Given the description of an element on the screen output the (x, y) to click on. 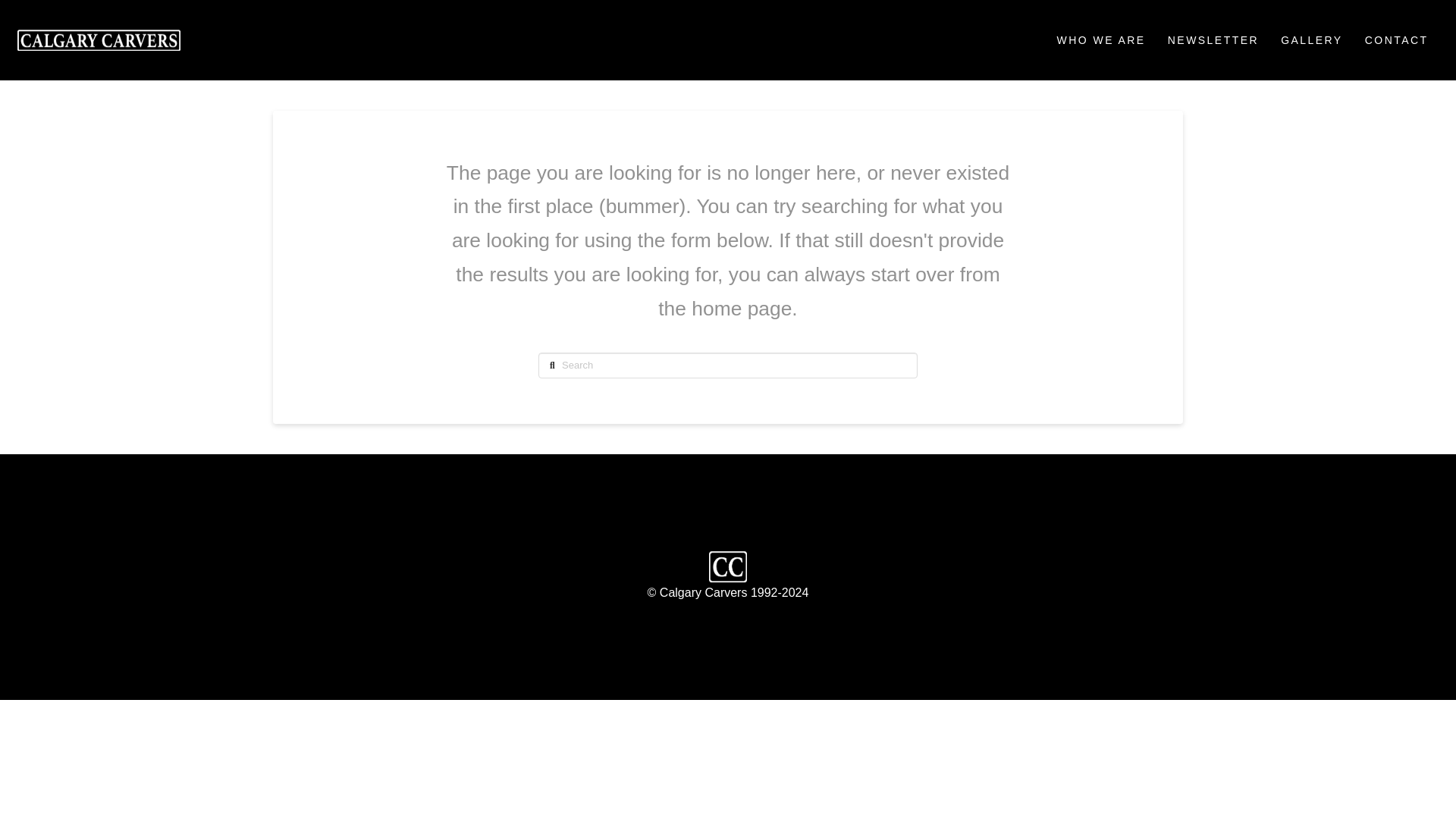
GALLERY (1310, 39)
NEWSLETTER (1212, 39)
WHO WE ARE (1100, 39)
CONTACT (1395, 39)
